Given the description of an element on the screen output the (x, y) to click on. 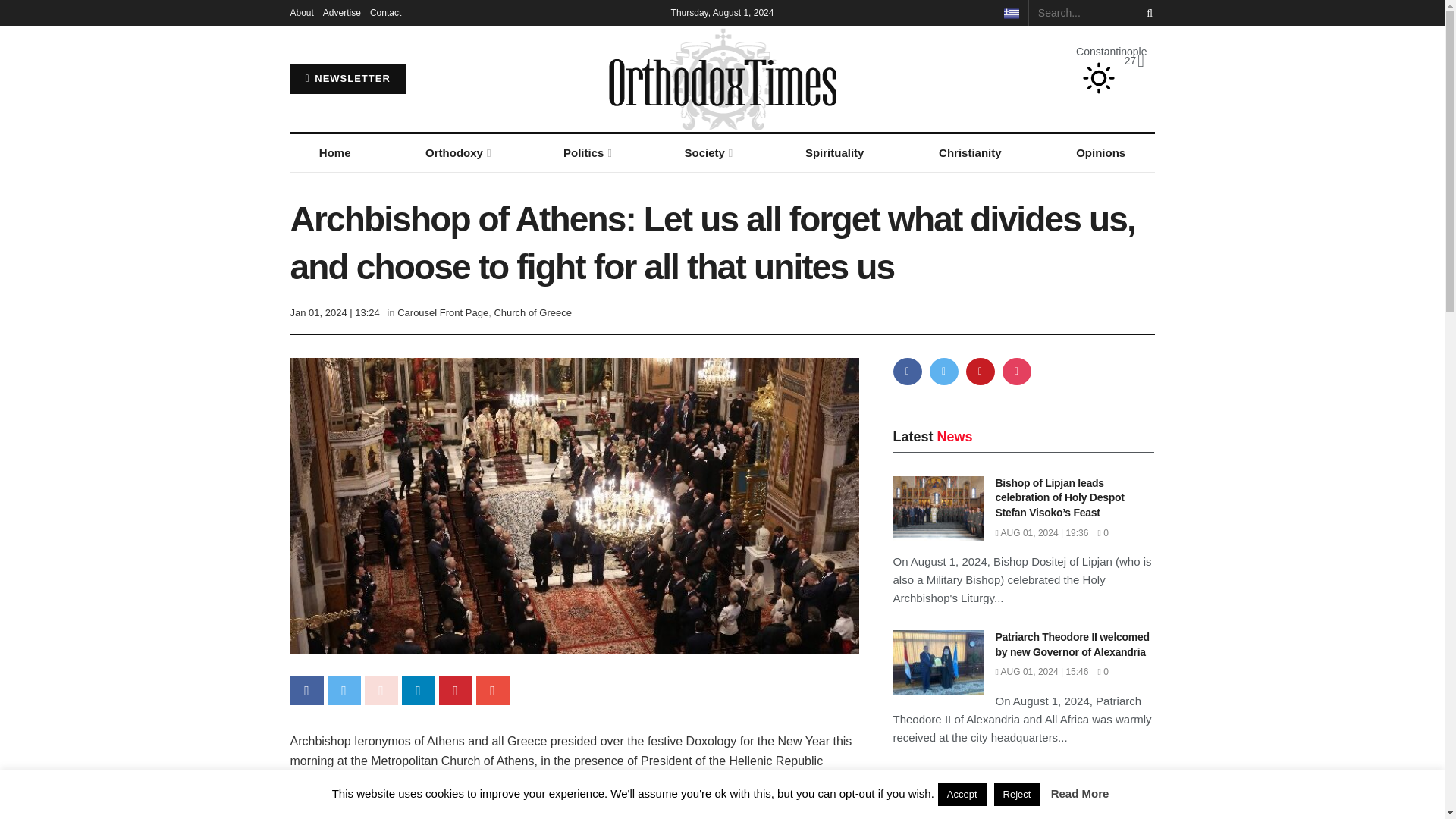
Spirituality (834, 152)
NEWSLETTER (346, 78)
About (301, 12)
Orthodoxy (457, 152)
Contact (385, 12)
Politics (586, 152)
Home (333, 152)
Society (706, 152)
Advertise (342, 12)
